Given the description of an element on the screen output the (x, y) to click on. 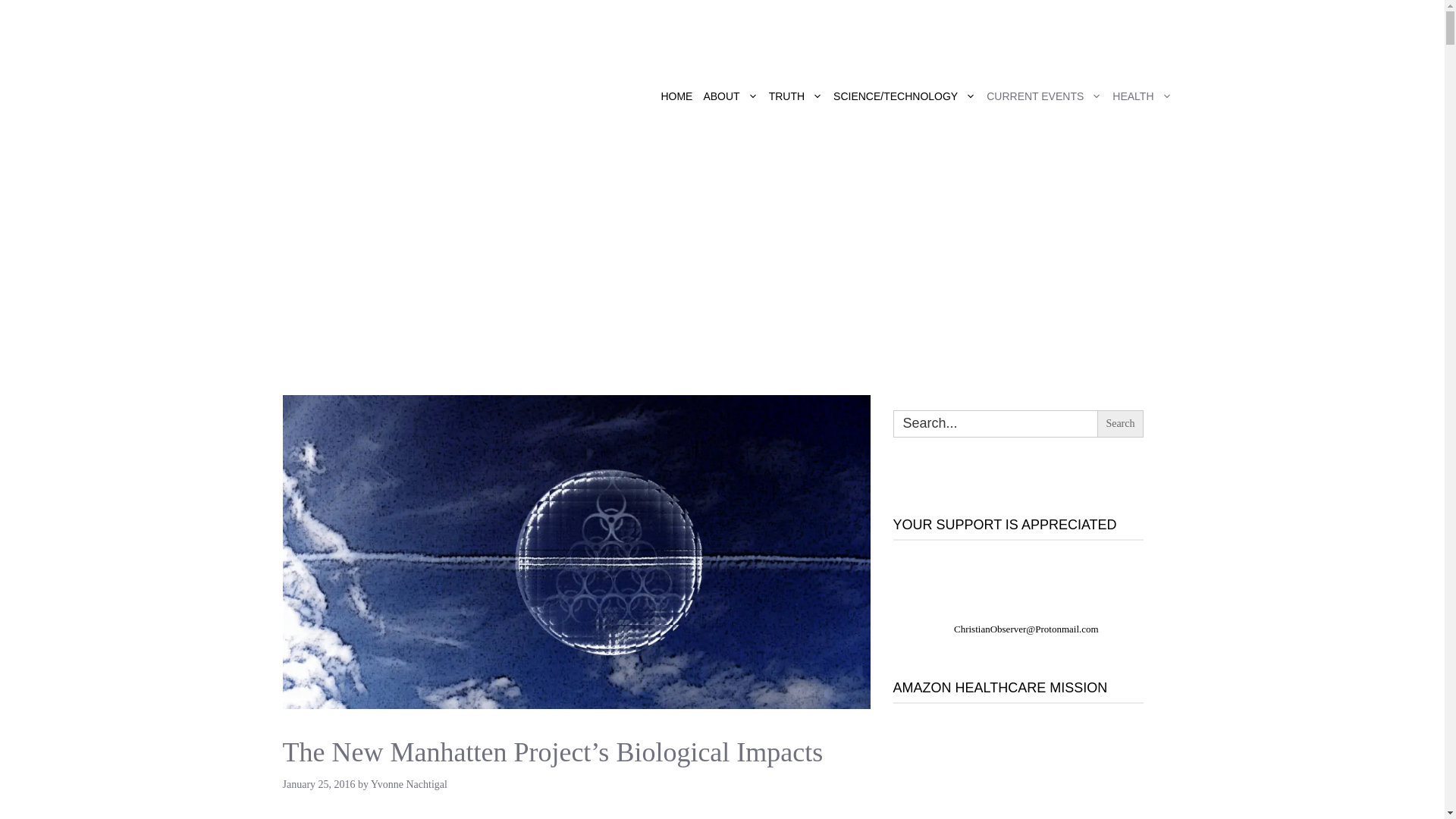
HOME (676, 96)
Search (1119, 423)
Search (1119, 423)
View all posts by Yvonne Nachtigal (408, 784)
TRUTH (795, 96)
ABOUT (729, 96)
